Given the description of an element on the screen output the (x, y) to click on. 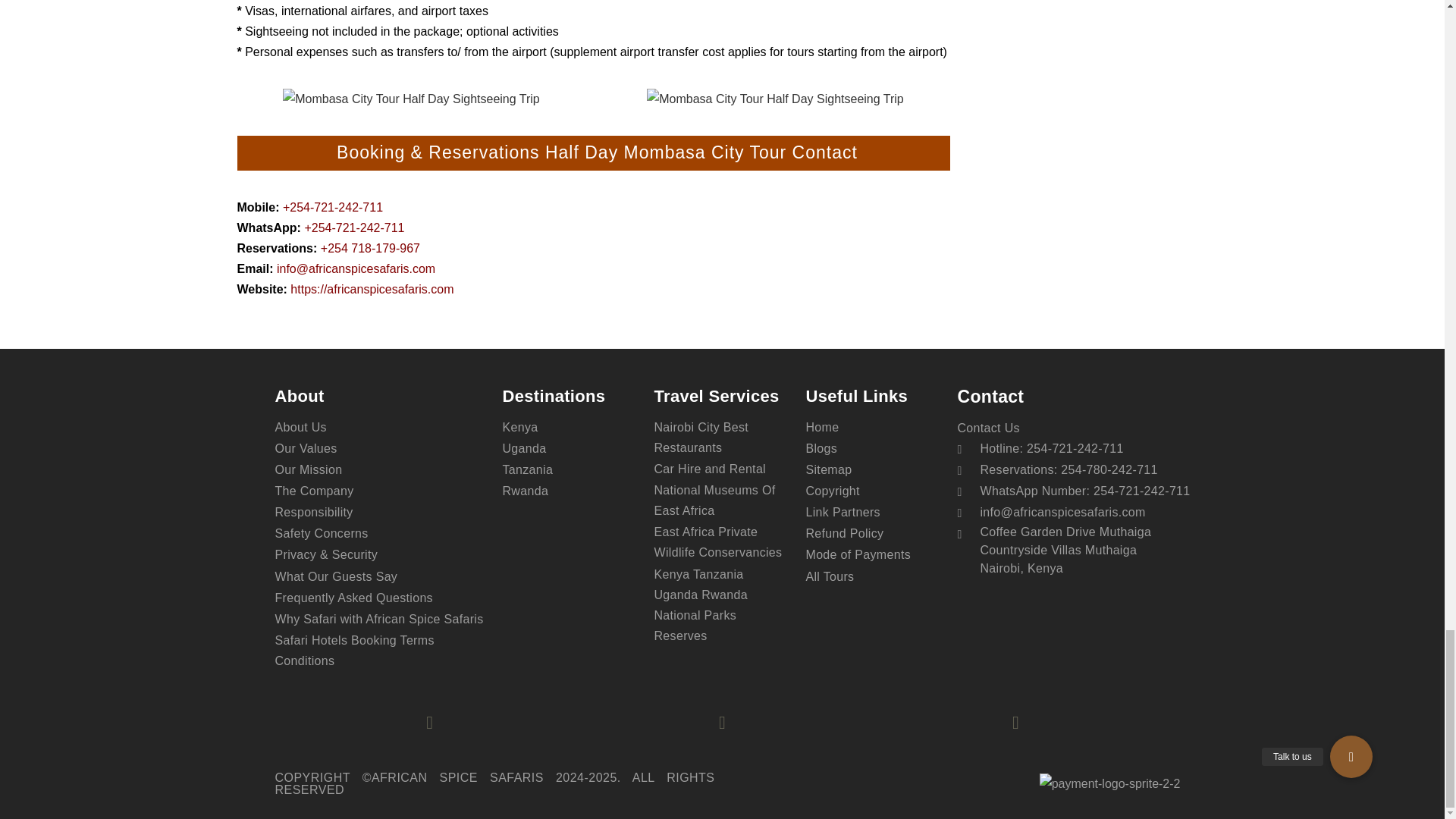
mombasa-half-day-city-tour (411, 98)
mombasa-old-town-city-tour (775, 98)
